Given the description of an element on the screen output the (x, y) to click on. 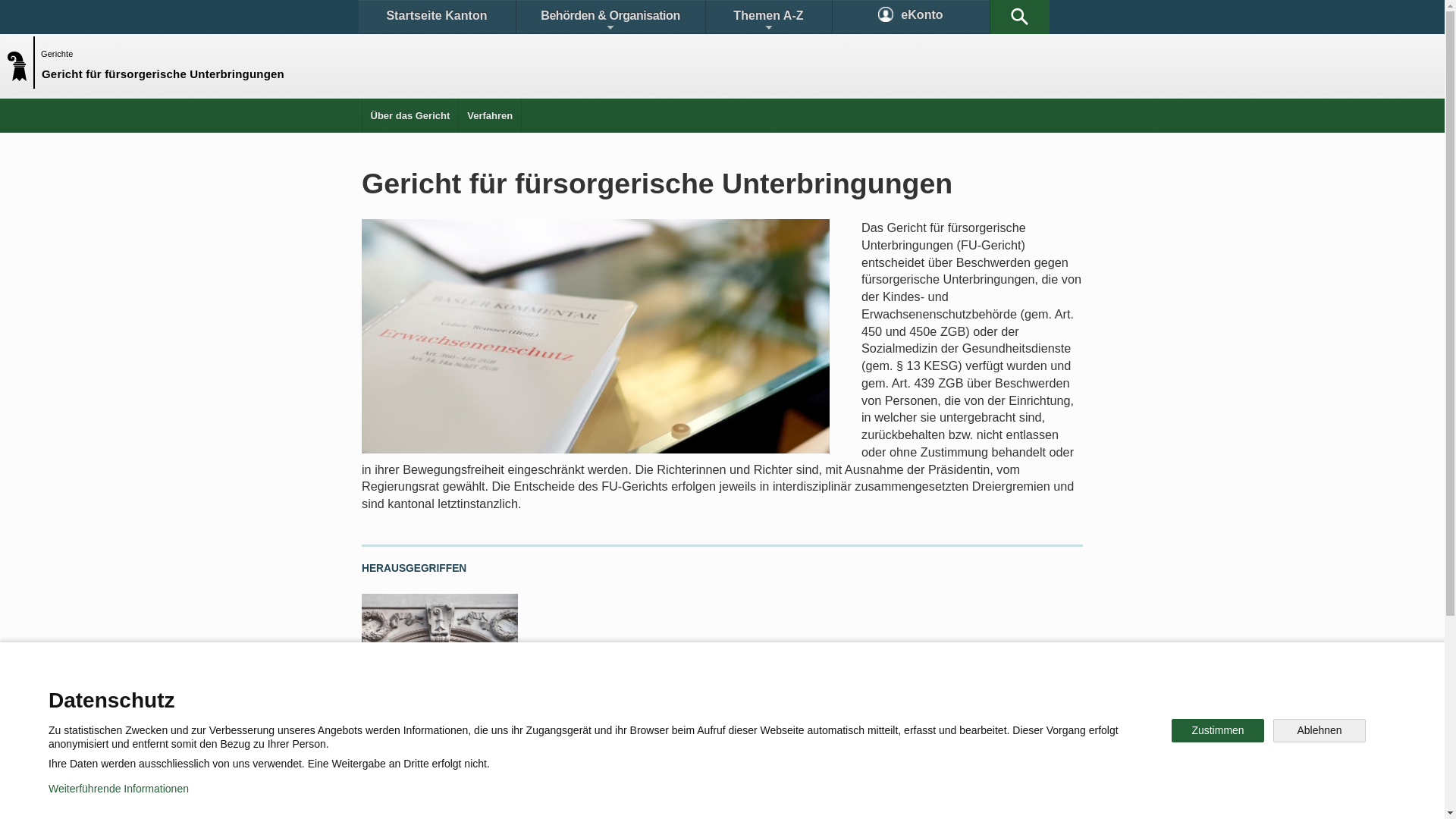
Nutzungsregelungen Element type: text (542, 796)
Gesetze Element type: text (597, 693)
Zustimmen Element type: text (1217, 730)
Twitter Element type: text (642, 746)
Verfahren Element type: text (489, 115)
Ablehnen Element type: text (1319, 730)
eKonto Element type: text (910, 17)
Die Gerichte des Kantons Basel-Stadt Element type: text (430, 723)
Facebook Element type: text (547, 746)
Kontakt Element type: text (406, 693)
Stadtplan & Karte Element type: text (504, 693)
Themen A-Z Element type: text (768, 17)
Impressum Element type: text (648, 796)
Instagram Element type: text (738, 746)
Bild & Multimedia Element type: text (908, 693)
Statistiken Element type: text (687, 693)
Startseite Kanton Element type: text (435, 17)
Zur mobilen Ansicht Element type: text (752, 796)
Publikationen Element type: text (795, 693)
